Given the description of an element on the screen output the (x, y) to click on. 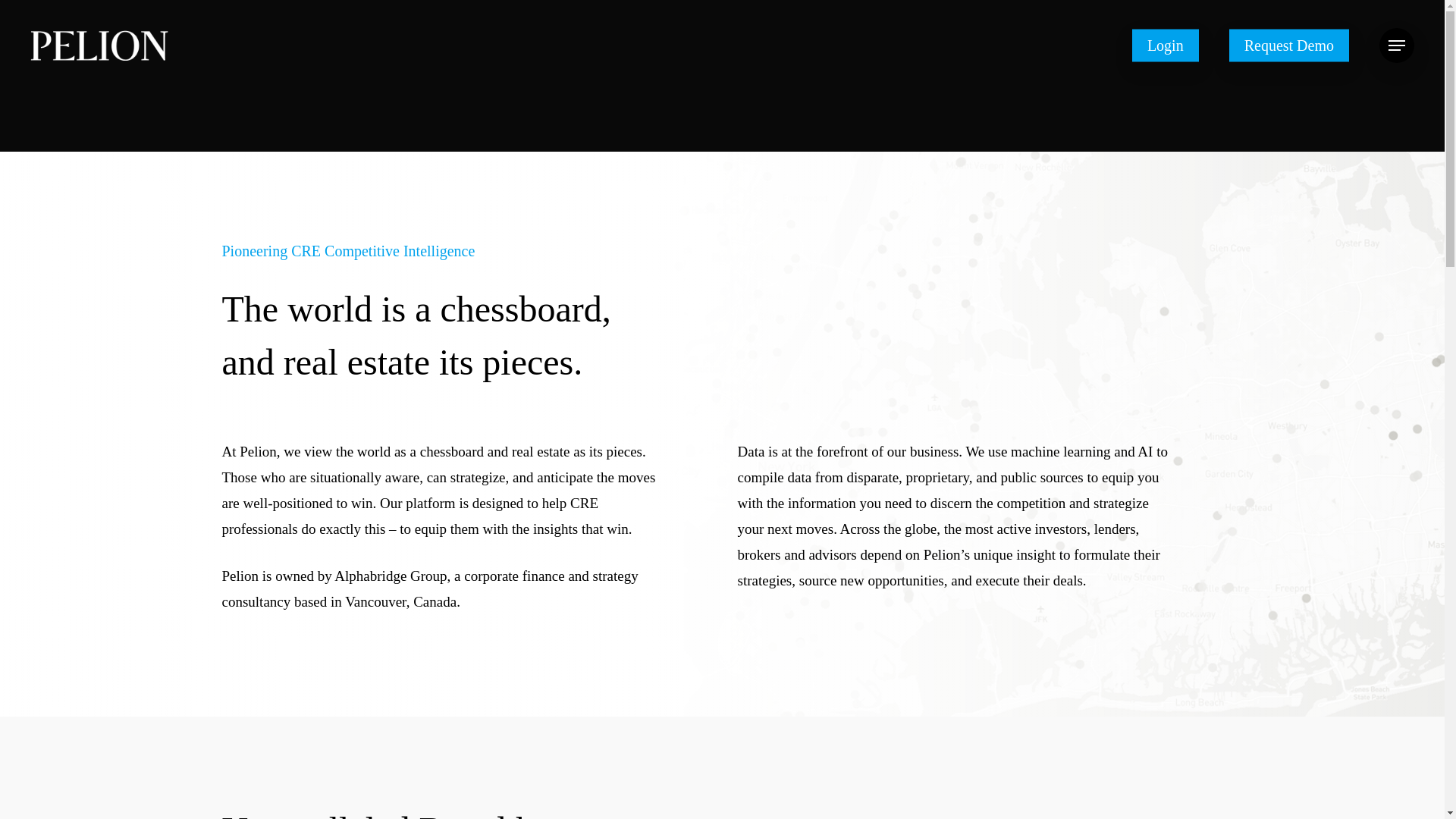
Login (1165, 45)
Request Demo (1288, 45)
